Given the description of an element on the screen output the (x, y) to click on. 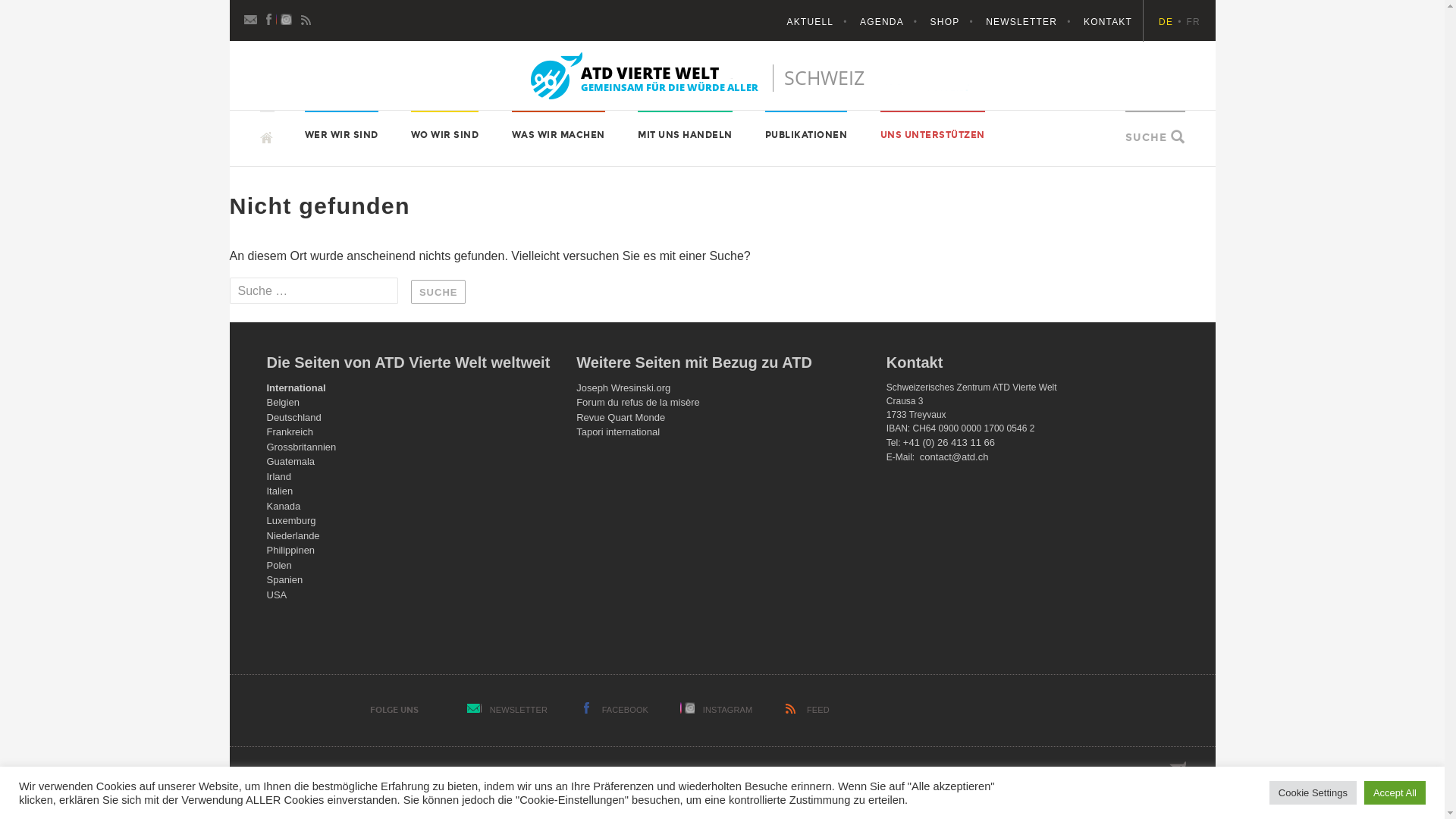
DE Element type: text (1172, 21)
Facebook Element type: hover (269, 17)
INSTAGRAM Element type: text (727, 709)
Guatemala Element type: text (290, 461)
FEED Element type: text (817, 709)
Accept All Element type: text (1394, 792)
IMPRESSUM Element type: text (944, 782)
contact@atd.ch Element type: text (953, 456)
ATD Vierte Welt  Element type: hover (722, 75)
SUCHE Element type: text (1146, 137)
ATD VIERTE WELT Element type: text (328, 136)
Italien Element type: text (279, 490)
CREDITS Element type: text (872, 782)
Kanada Element type: text (283, 505)
WAS WIR MACHEN Element type: text (558, 134)
AKTUELL Element type: text (821, 21)
WO WIR SIND Element type: text (445, 134)
WER WIR SIND Element type: text (341, 134)
PUBLIKATIONEN Element type: text (806, 134)
Irland Element type: text (278, 476)
FR Element type: text (1193, 21)
Luxemburg Element type: text (291, 520)
Belgien Element type: text (282, 401)
MIT UNS HANDELN Element type: text (684, 134)
NEWSLETTER Element type: text (518, 709)
Tapori international Element type: text (617, 431)
Joseph Wresinski.org Element type: text (623, 387)
Cookie Settings Element type: text (1312, 792)
Frankreich Element type: text (289, 431)
NEWSLETTER Element type: text (1032, 21)
KONTAKTIEREN SIE UNS Element type: text (1057, 782)
Newsletter Element type: hover (251, 17)
KONTAKT Element type: text (1107, 21)
Instagram Element type: hover (287, 17)
Niederlande Element type: text (293, 535)
Polen Element type: text (278, 565)
RSS Element type: hover (305, 17)
Philippinen Element type: text (290, 549)
International Element type: text (296, 387)
ZUM INHALT SPRINGEN Element type: text (259, 109)
Grossbritannien Element type: text (301, 446)
+41 (0) 26 413 11 66 Element type: text (948, 442)
USA Element type: text (276, 594)
AGENDA Element type: text (893, 21)
Revue Quart Monde Element type: text (620, 417)
Suche Element type: text (438, 291)
  Element type: text (266, 129)
Deutschland Element type: text (293, 417)
SHOP Element type: text (956, 21)
FACEBOOK Element type: text (625, 709)
ATD AGORA Element type: text (801, 782)
Spanien Element type: text (284, 579)
